Given the description of an element on the screen output the (x, y) to click on. 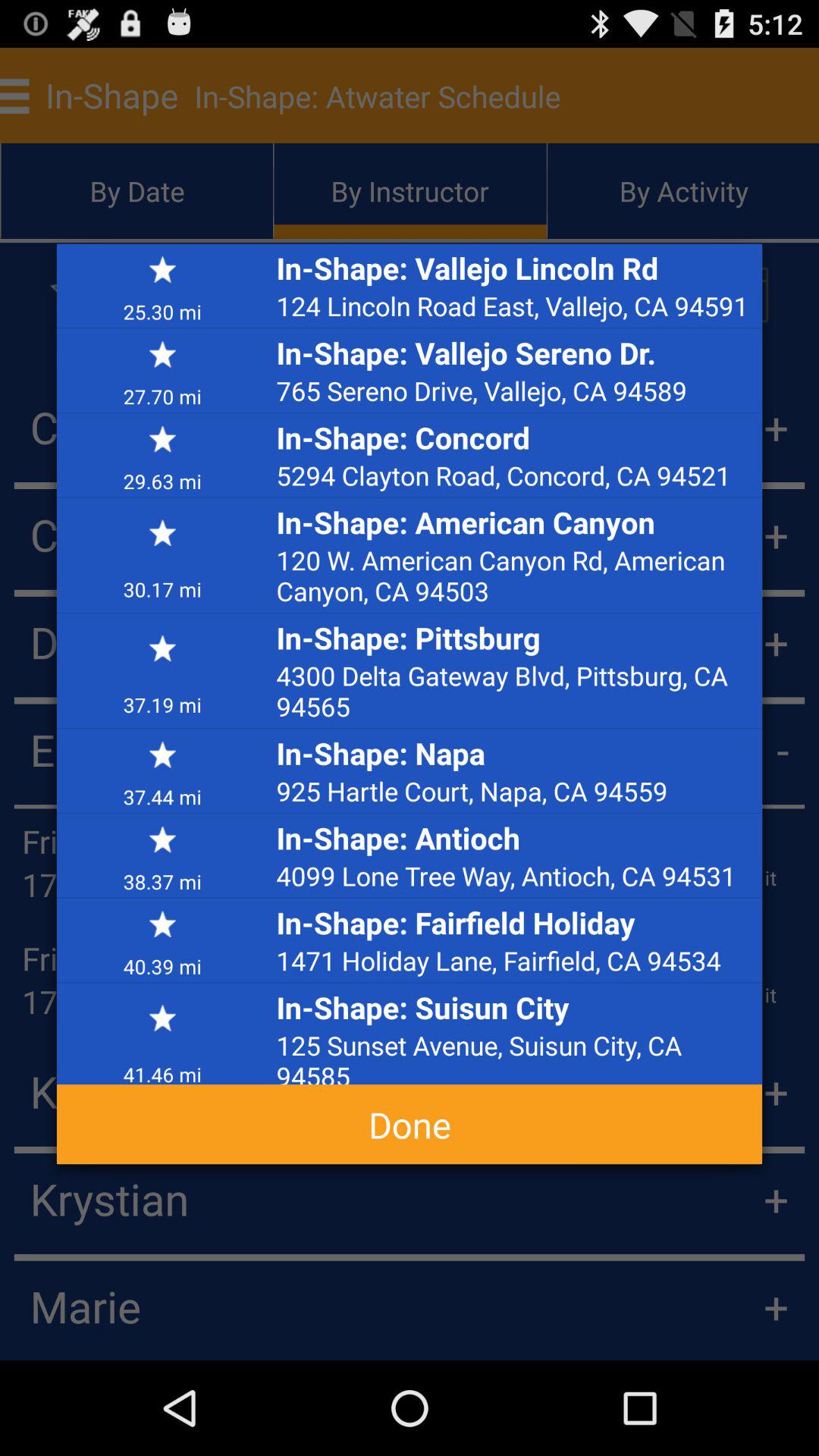
swipe until the 4300 delta gateway item (515, 691)
